Given the description of an element on the screen output the (x, y) to click on. 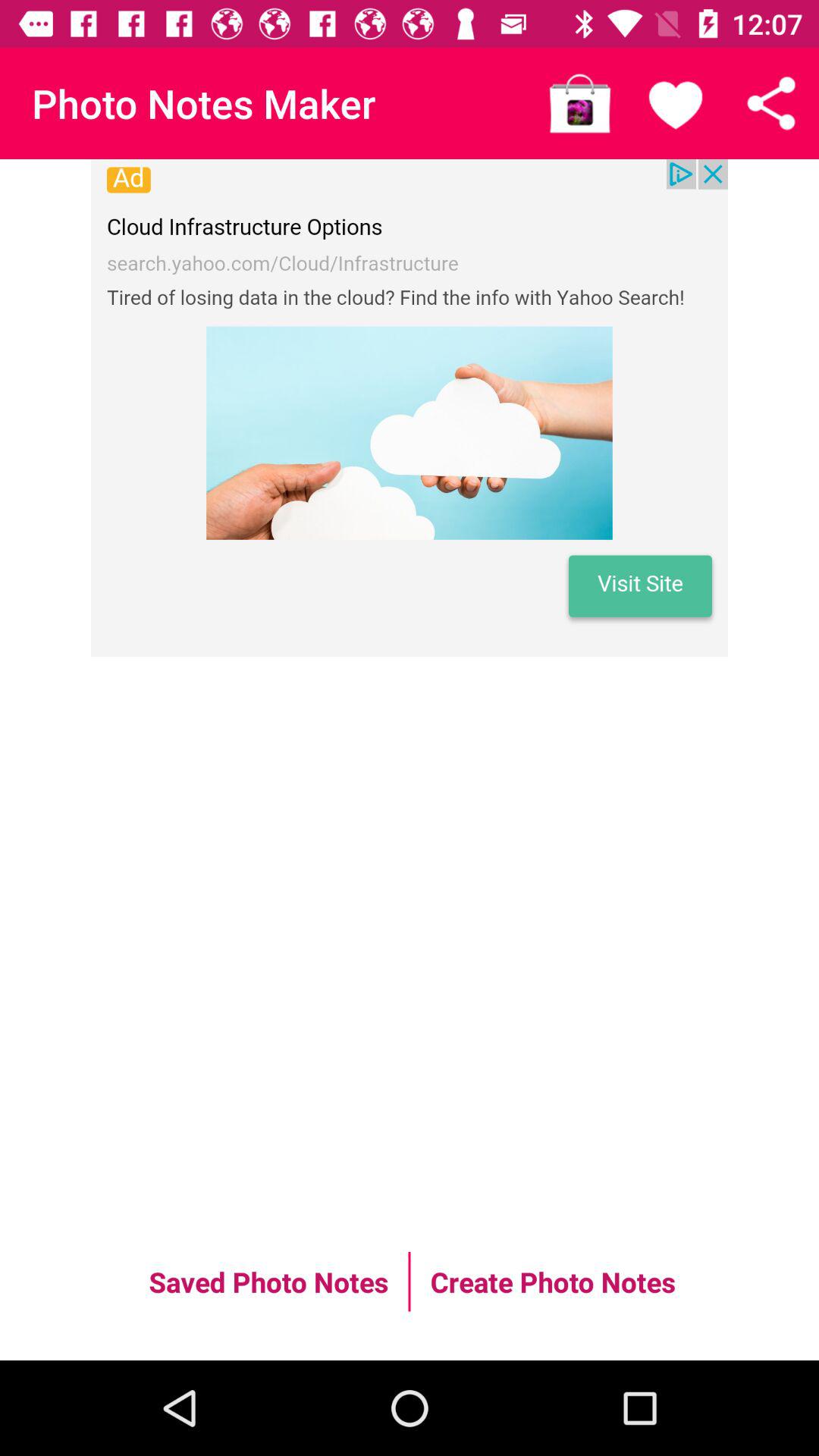
add to like (675, 103)
